Given the description of an element on the screen output the (x, y) to click on. 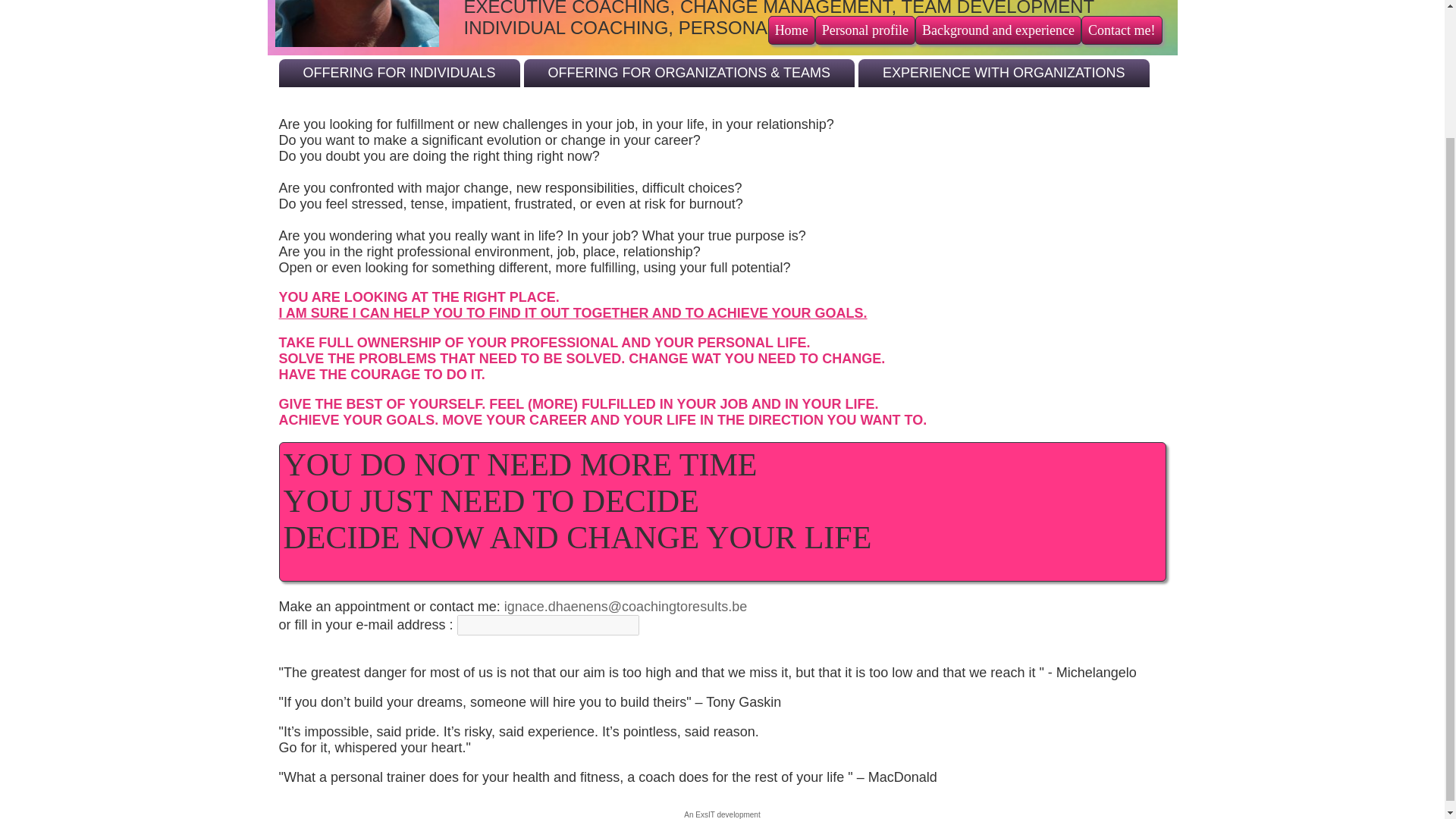
Home (791, 30)
Contact me! (1121, 30)
EXPERIENCE WITH ORGANIZATIONS (1004, 72)
Background and experience (998, 30)
OFFERING FOR INDIVIDUALS (399, 72)
Personal profile (865, 30)
